Given the description of an element on the screen output the (x, y) to click on. 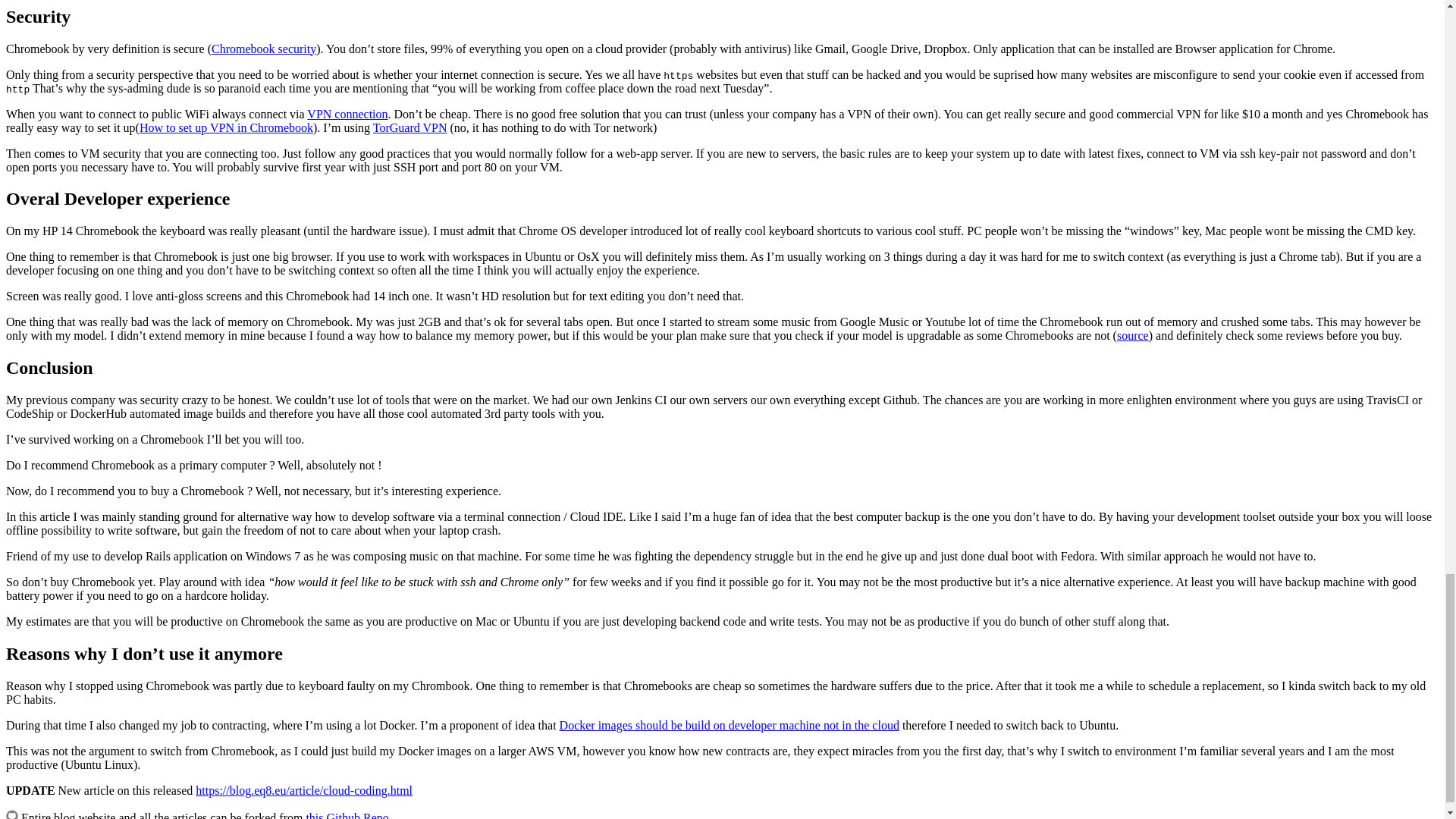
Chromebook security (263, 47)
TorGuard VPN (409, 126)
source (1132, 335)
VPN connection (347, 113)
How to set up VPN in Chromebook (226, 126)
